Given the description of an element on the screen output the (x, y) to click on. 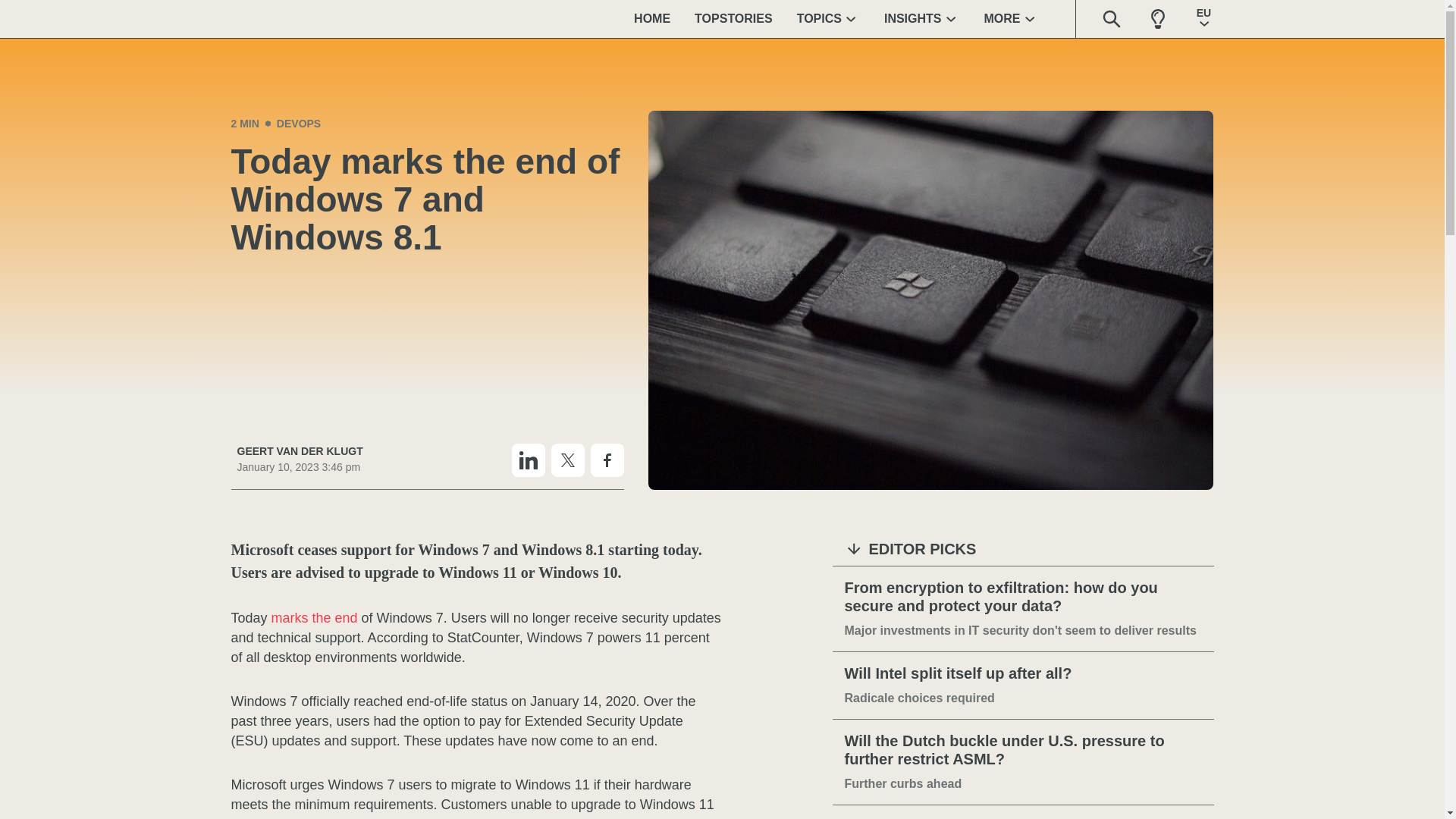
TOPSTORIES (733, 18)
TOPICS (828, 18)
January 10, 2023 3:46 pm (298, 467)
MORE (1011, 18)
INSIGHTS (922, 18)
GEERT VAN DER KLUGT (298, 451)
HOME (651, 18)
Will Intel split itself up after all? (1023, 673)
